Given the description of an element on the screen output the (x, y) to click on. 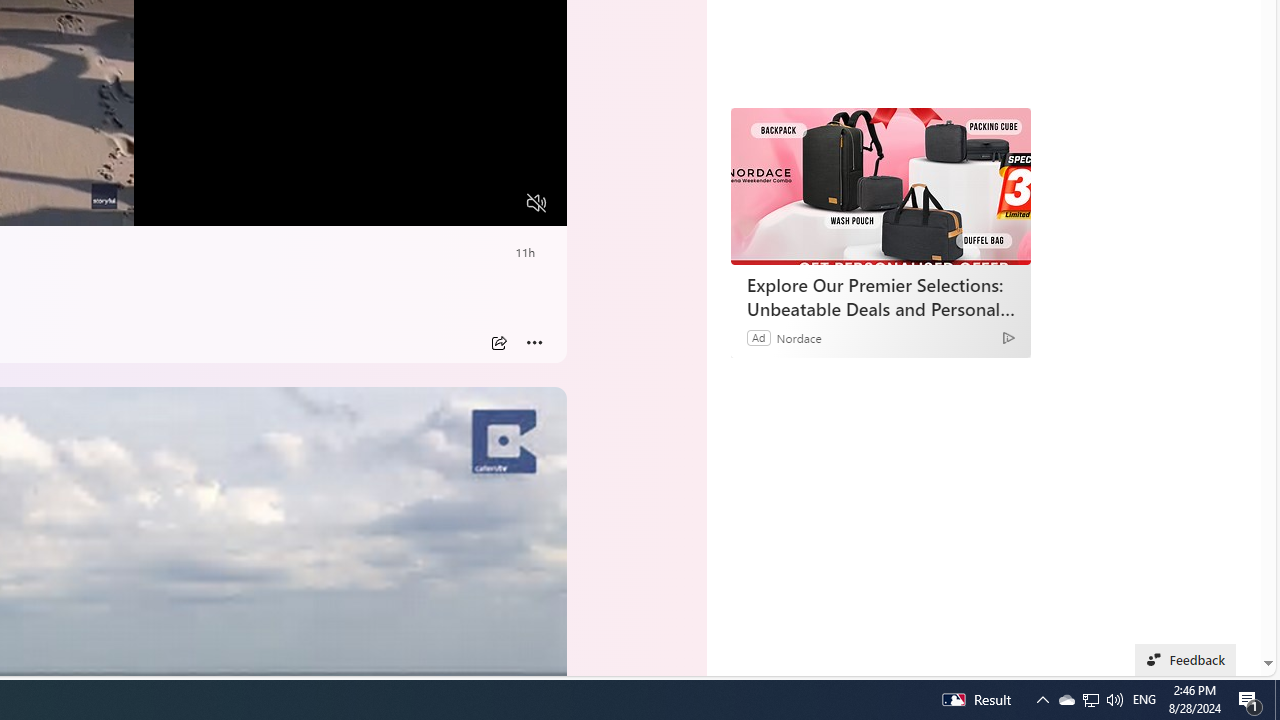
Share (498, 343)
Quality Settings (418, 203)
Unmute (535, 203)
Captions (457, 203)
Fullscreen (497, 203)
Share (498, 343)
